Given the description of an element on the screen output the (x, y) to click on. 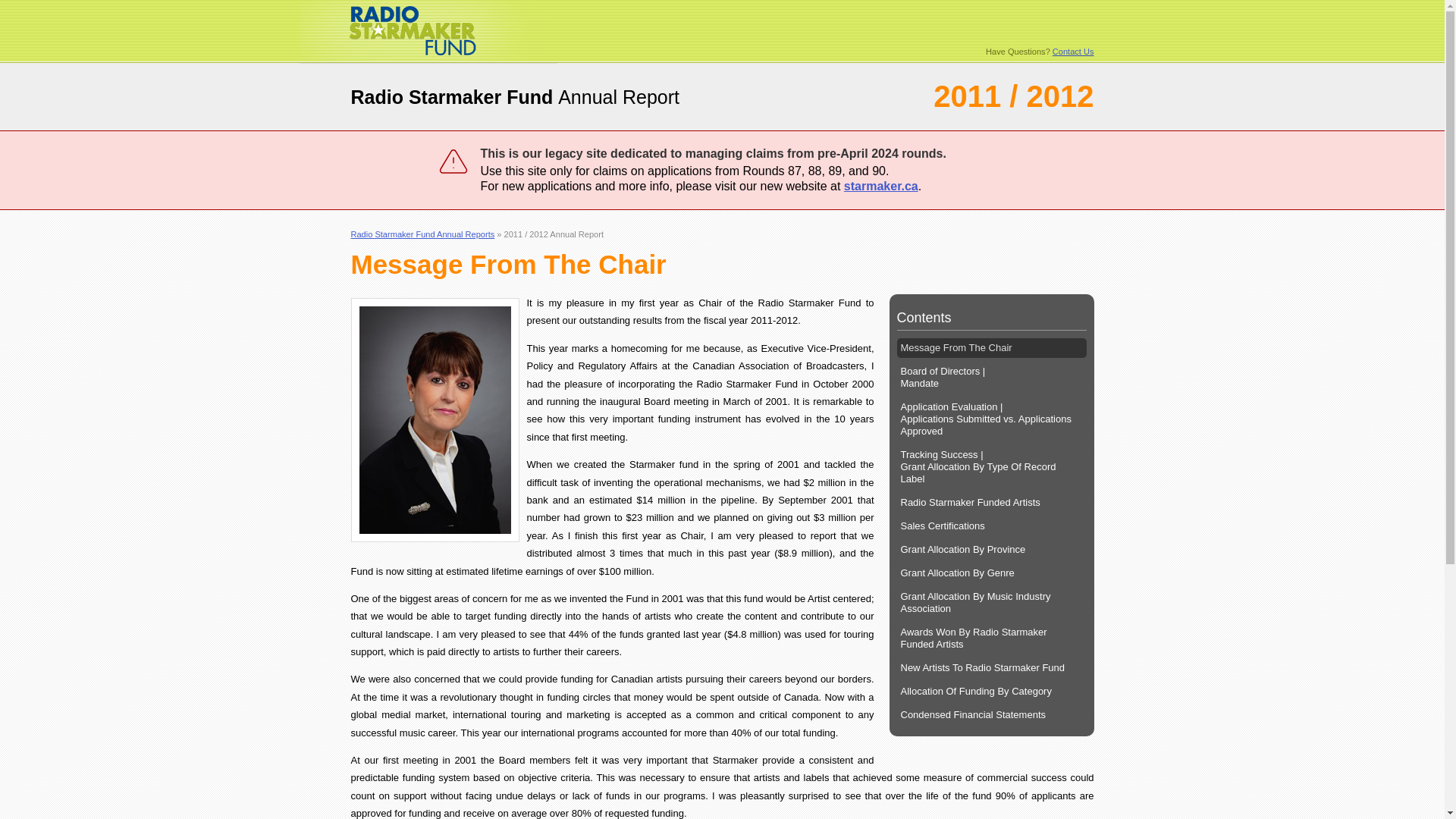
Radio Starmaker Fund Annual Report (514, 96)
Grant Allocation By Genre (991, 573)
Radio Starmaker Fund Annual Reports (422, 234)
Starmaker Home Page (427, 58)
Grant Allocation By Province (991, 549)
Condensed Financial Statements (991, 714)
Awards Won By Radio Starmaker Funded Artists (991, 638)
starmaker.ca (881, 185)
Radio Starmaker Funded Artists (991, 502)
Allocation Of Funding By Category (991, 691)
Grant Allocation By Music Industry Association (991, 603)
Sales Certifications (991, 526)
New Artists To Radio Starmaker Fund (991, 668)
Contact Us (1073, 51)
